Given the description of an element on the screen output the (x, y) to click on. 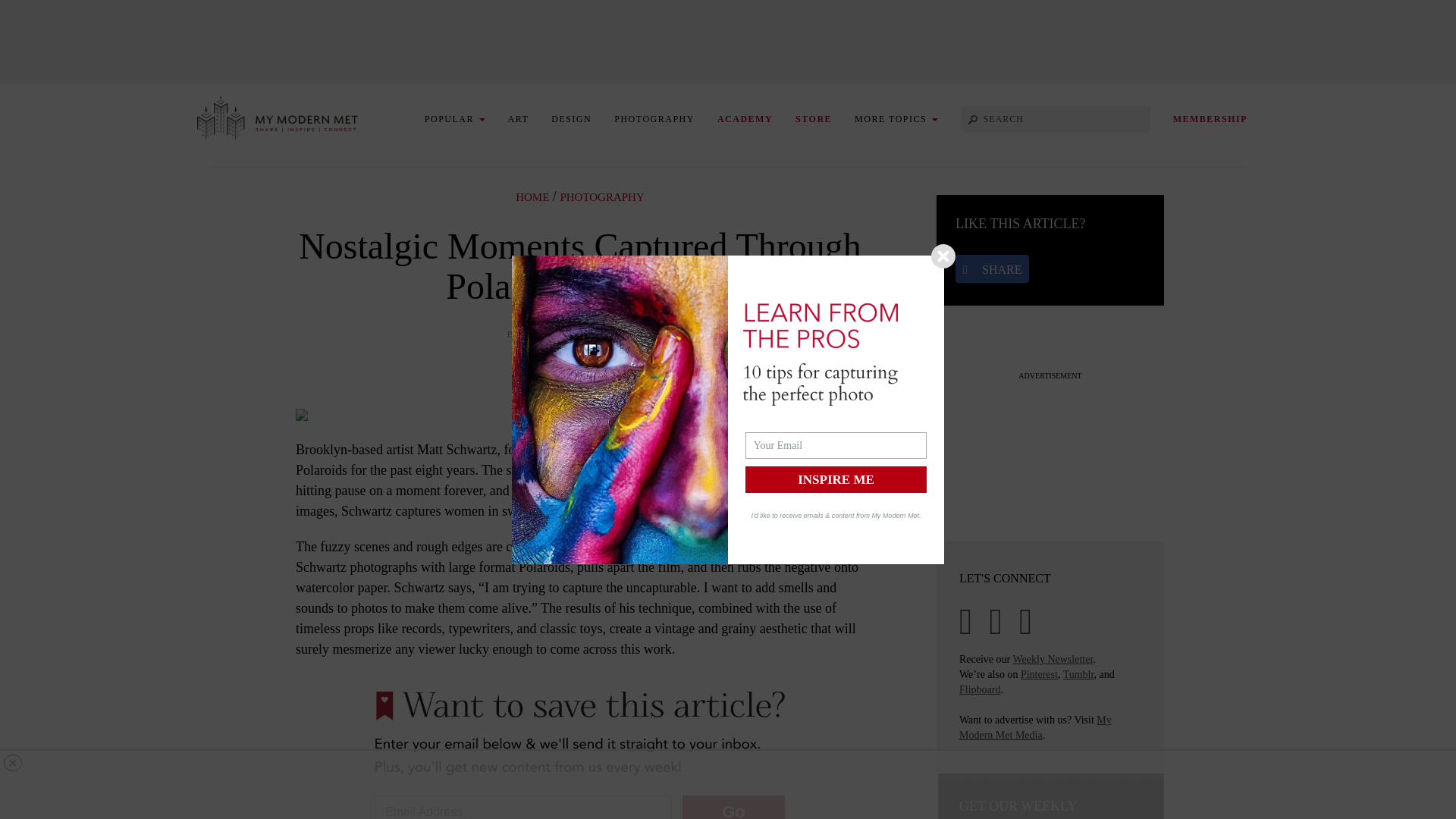
Inspire Me (835, 479)
Go (733, 807)
Close (943, 256)
